Given the description of an element on the screen output the (x, y) to click on. 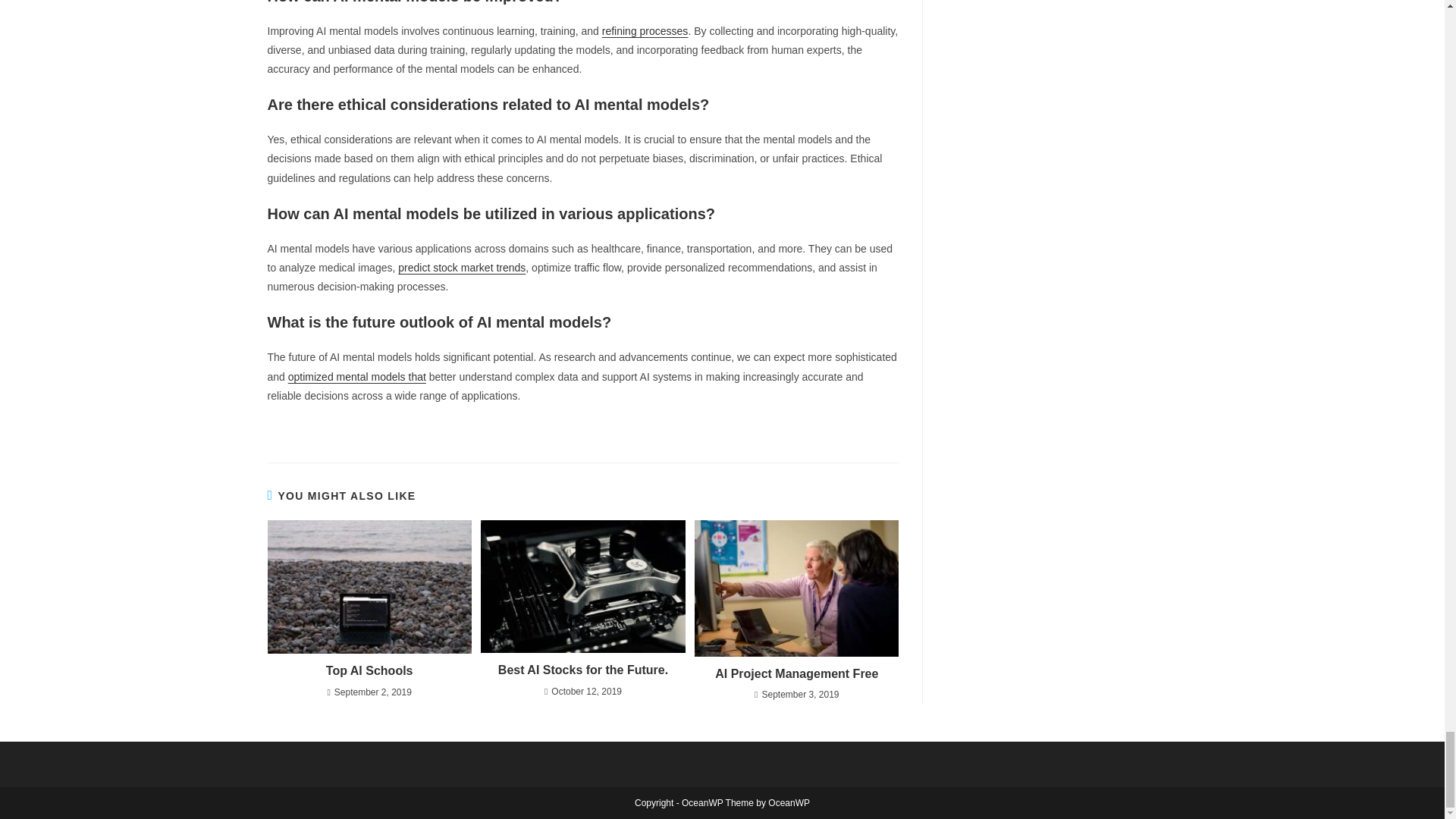
predict stock market trends (461, 267)
refining processes (645, 30)
Top AI Schools (368, 670)
optimized mental models that (357, 377)
